Given the description of an element on the screen output the (x, y) to click on. 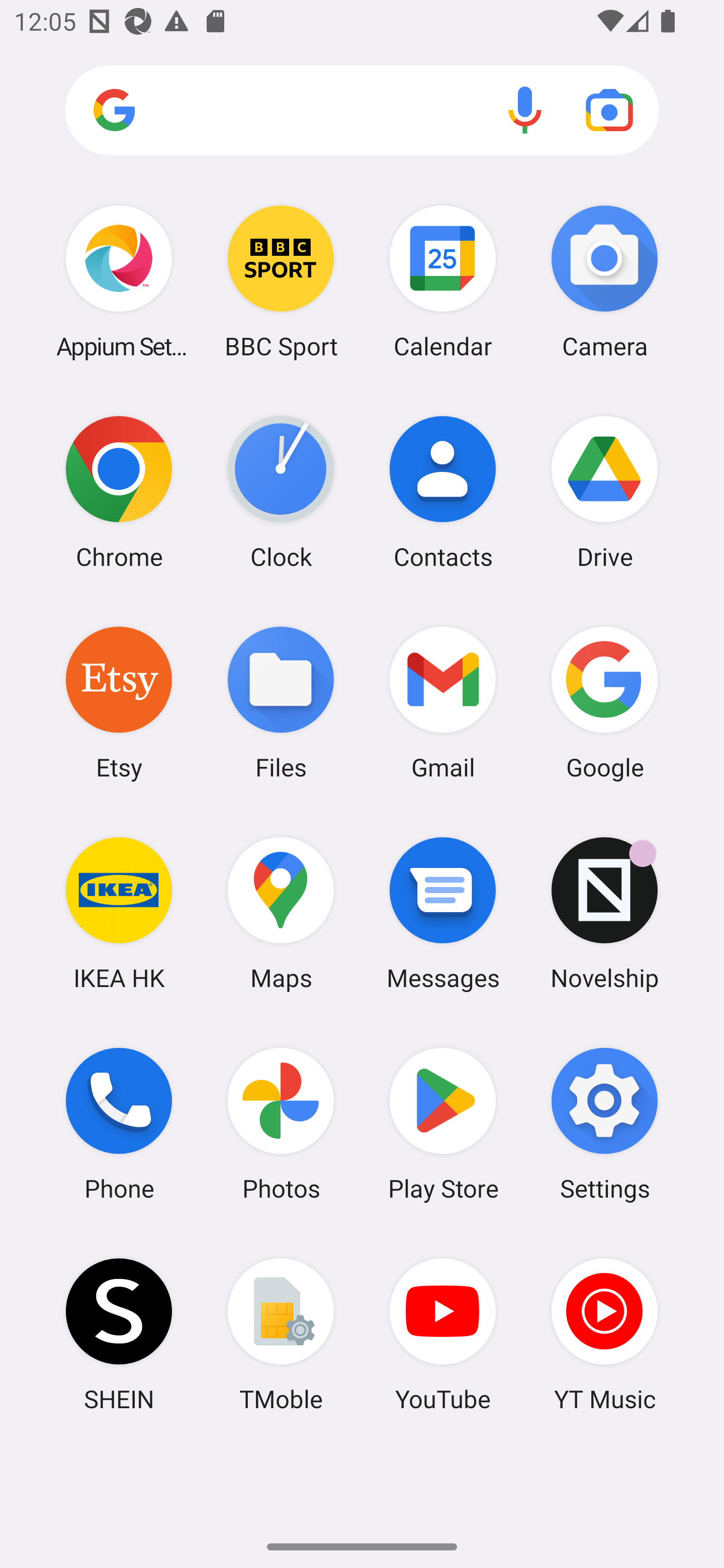
Search apps, web and more (361, 110)
Voice search (524, 109)
Google Lens (608, 109)
Appium Settings (118, 281)
BBC Sport (280, 281)
Calendar (443, 281)
Camera (604, 281)
Chrome (118, 492)
Clock (280, 492)
Contacts (443, 492)
Drive (604, 492)
Etsy (118, 702)
Files (280, 702)
Gmail (443, 702)
Google (604, 702)
IKEA HK (118, 913)
Maps (280, 913)
Messages (443, 913)
Novelship Novelship has 7 notifications (604, 913)
Phone (118, 1124)
Photos (280, 1124)
Play Store (443, 1124)
Settings (604, 1124)
SHEIN (118, 1334)
TMoble (280, 1334)
YouTube (443, 1334)
YT Music (604, 1334)
